Given the description of an element on the screen output the (x, y) to click on. 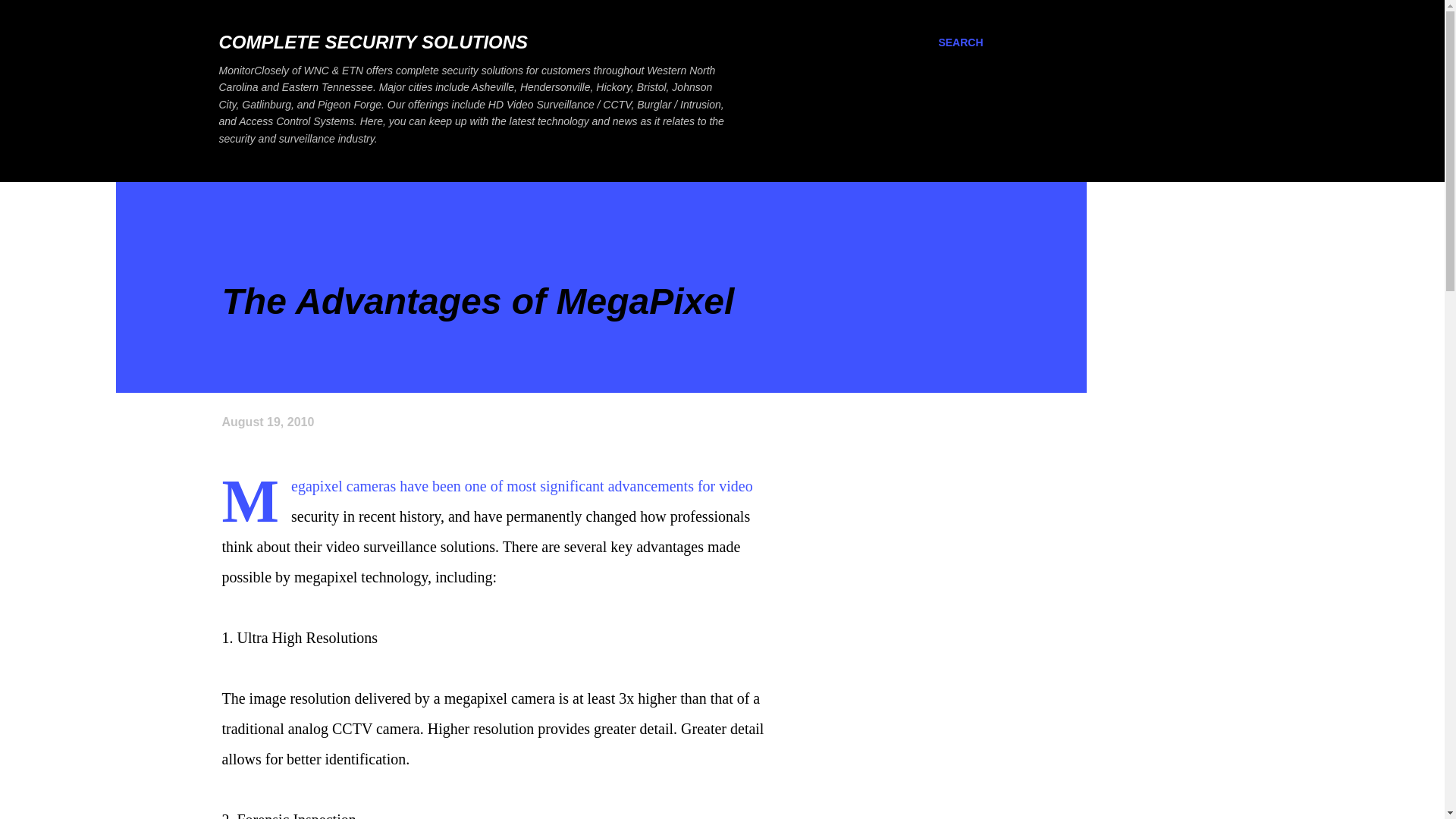
August 19, 2010 (267, 421)
SEARCH (959, 42)
permanent link (267, 421)
COMPLETE SECURITY SOLUTIONS (372, 41)
